Given the description of an element on the screen output the (x, y) to click on. 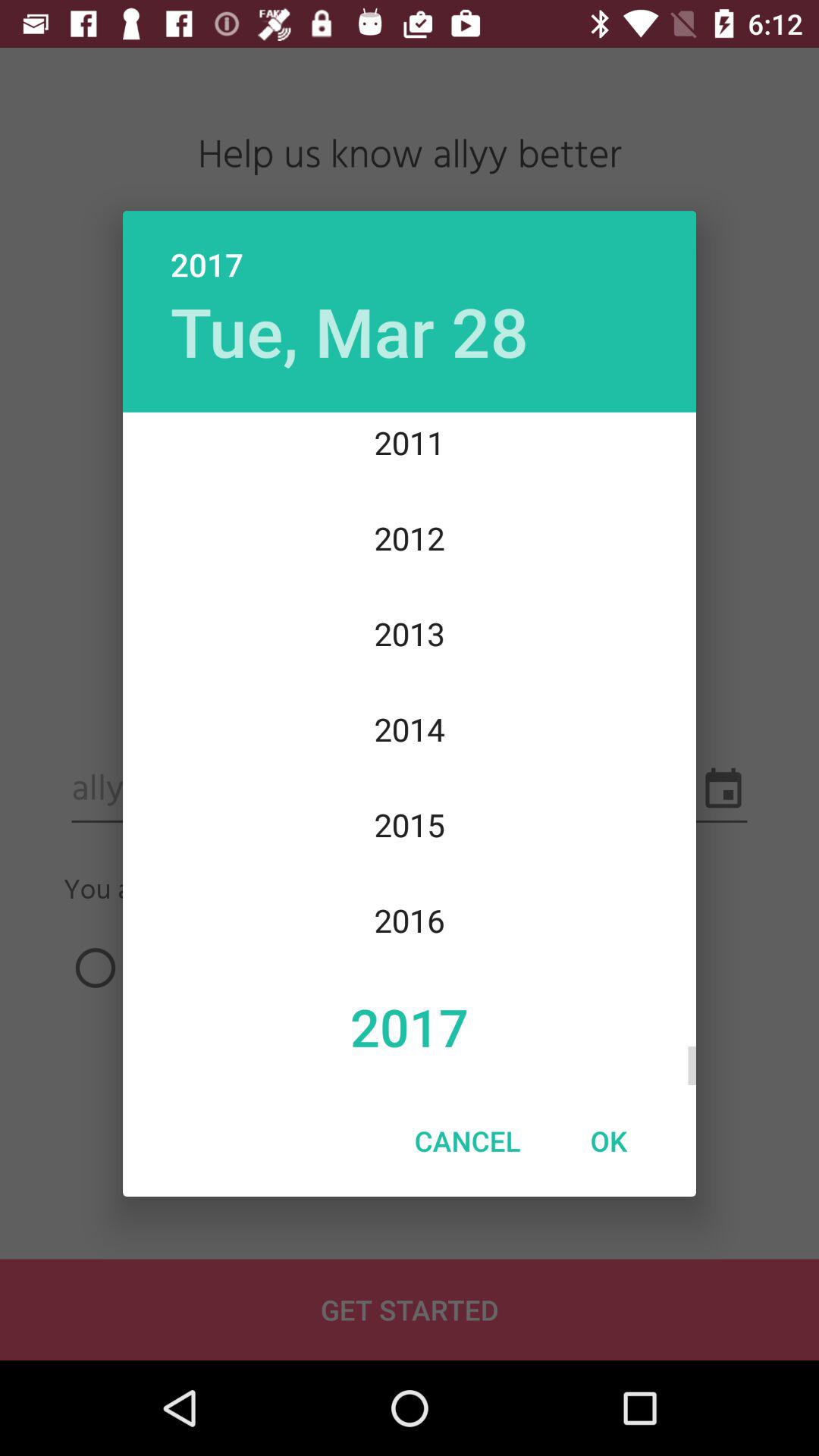
select ok at the bottom right corner (608, 1140)
